Given the description of an element on the screen output the (x, y) to click on. 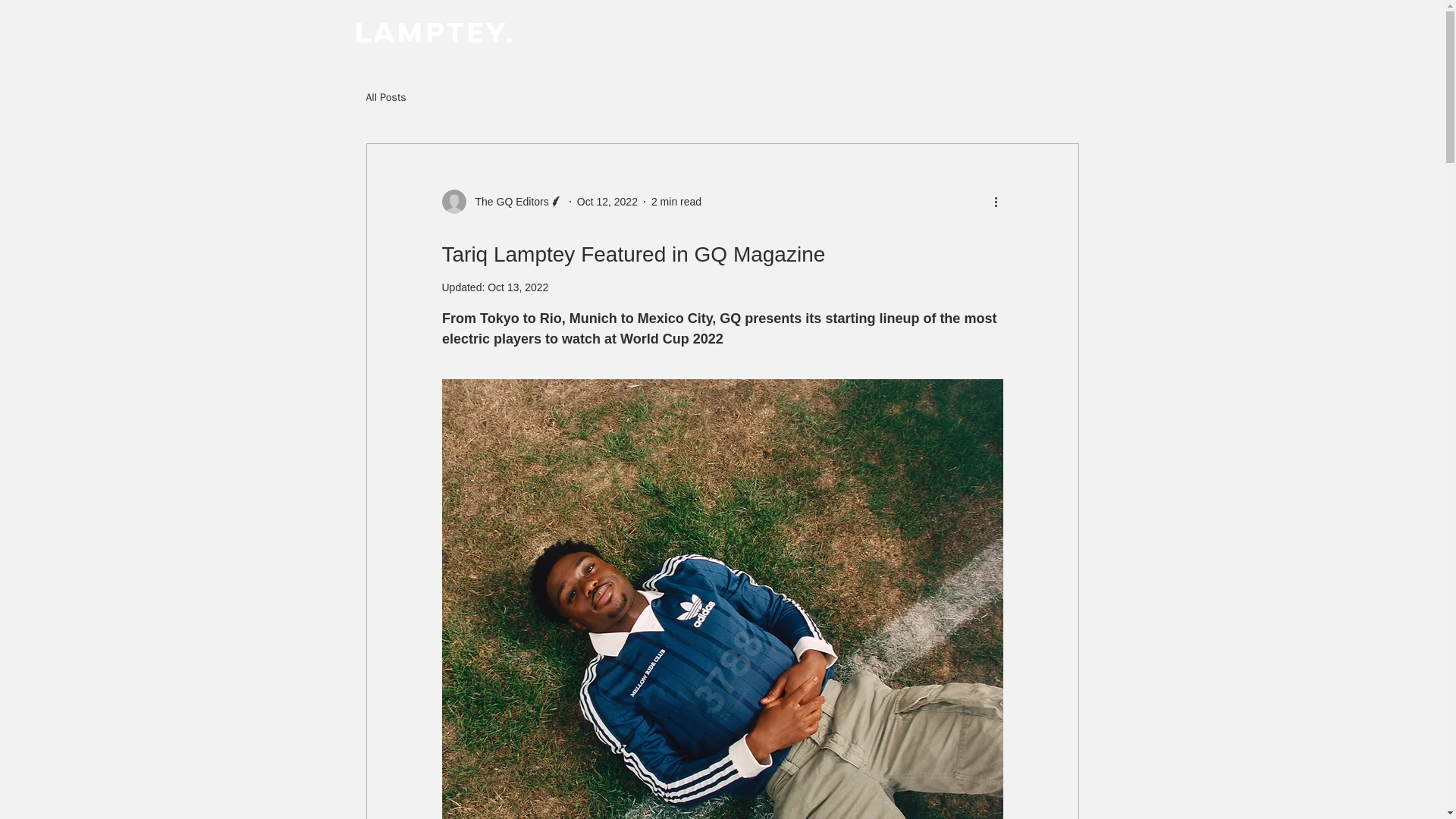
Store (938, 33)
The GQ Editors (506, 201)
All Posts (385, 97)
Subscribe (1171, 33)
Giving Back (1013, 33)
News (1089, 33)
2 min read (675, 201)
Partners (873, 33)
Game (806, 33)
Home (746, 33)
The GQ Editors (501, 201)
Oct 13, 2022 (517, 287)
Oct 12, 2022 (606, 201)
